Given the description of an element on the screen output the (x, y) to click on. 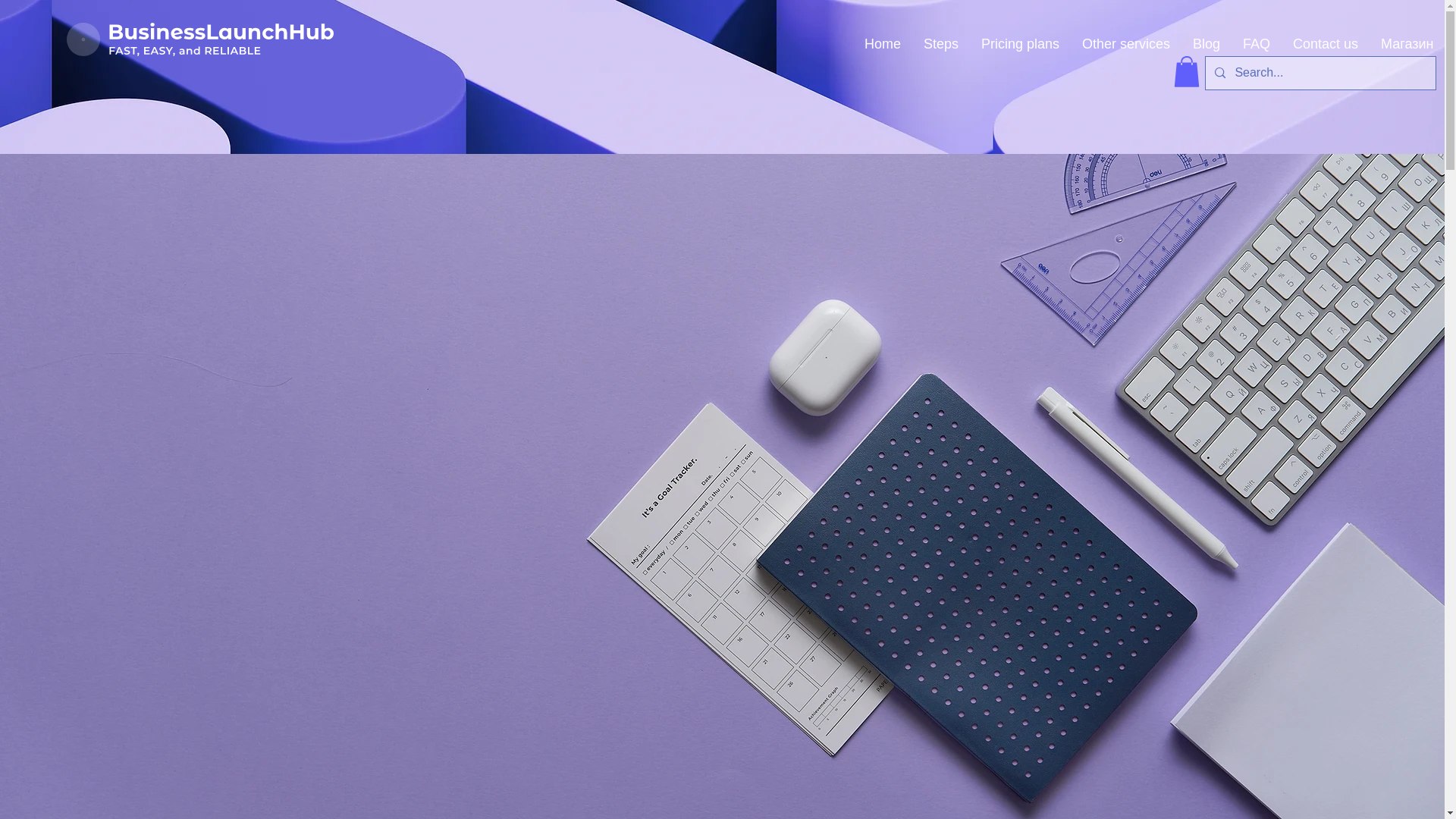
Steps (940, 43)
Blog (1205, 43)
Pricing plans (1019, 43)
Home (882, 43)
Contact us (1325, 43)
FAQ (1256, 43)
Other services (1125, 43)
